Given the description of an element on the screen output the (x, y) to click on. 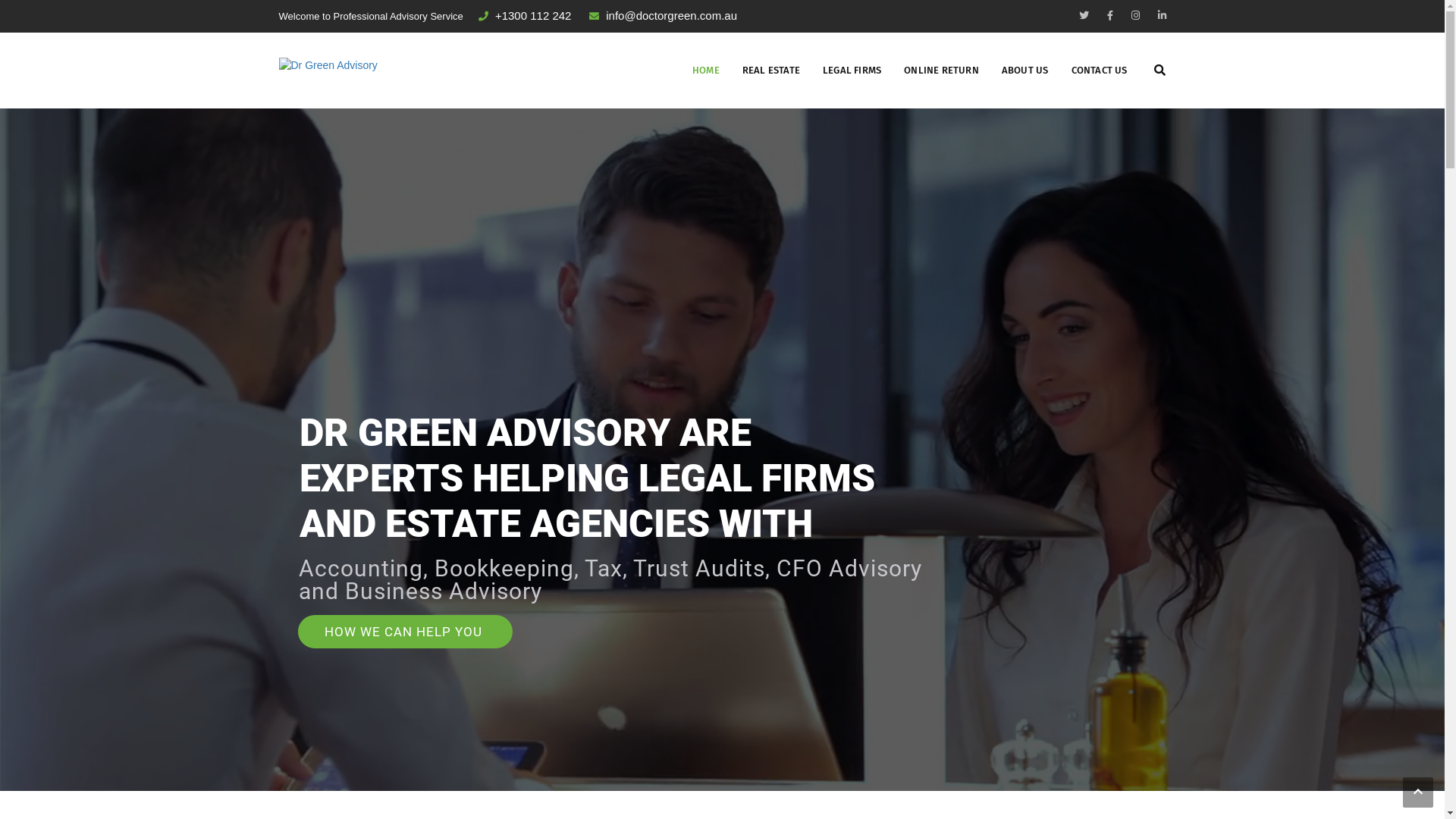
HOME Element type: text (705, 70)
HOW WE CAN HELP YOU Element type: text (405, 631)
LEGAL FIRMS Element type: text (851, 70)
https://www.facebook.com/drgreenadvisory/ Element type: hover (1135, 14)
https://www.facebook.com/drgreenadvisory/ Element type: hover (1110, 14)
Dr Green Advisory Element type: hover (328, 64)
CONTACT US Element type: text (1099, 70)
ABOUT US Element type: text (1025, 70)
Search Element type: text (1144, 135)
https://twitter.com/DrGreenAdvisory?s=03 Element type: hover (1083, 14)
REAL ESTATE Element type: text (771, 70)
ONLINE RETURN Element type: text (941, 70)
